Given the description of an element on the screen output the (x, y) to click on. 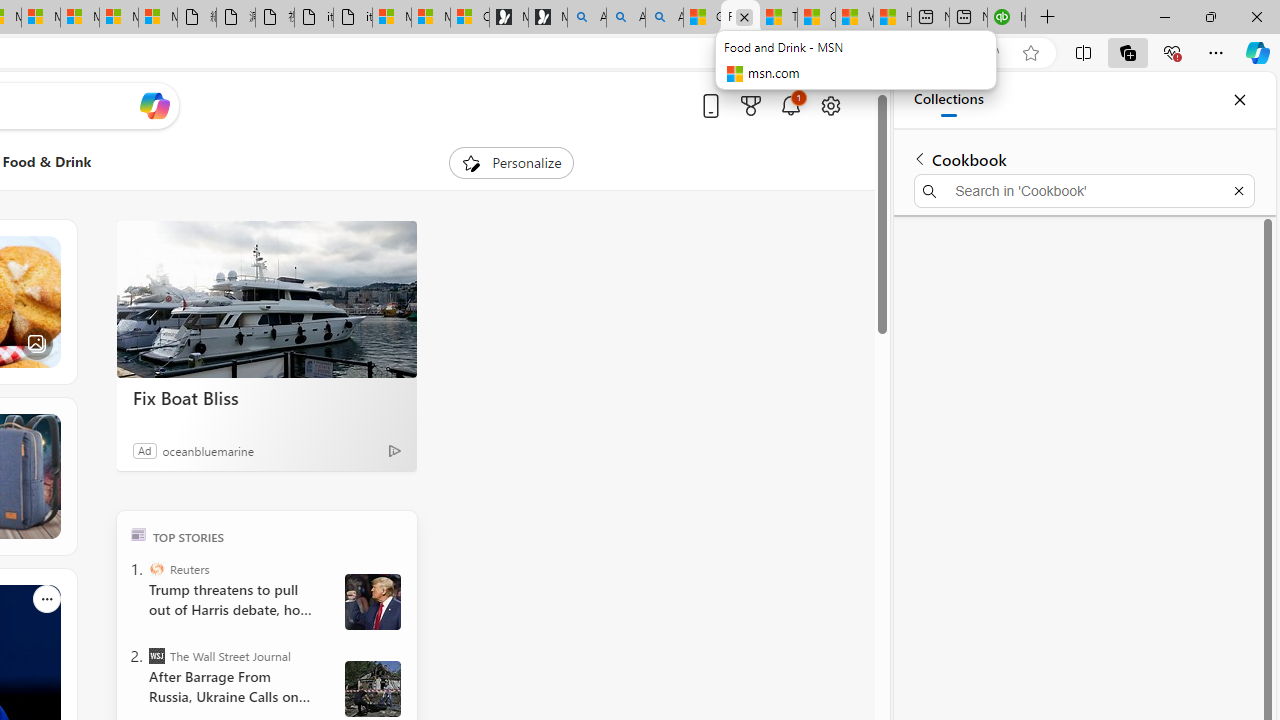
Search in 'Cookbook' (1084, 190)
The Wall Street Journal (156, 655)
